Given the description of an element on the screen output the (x, y) to click on. 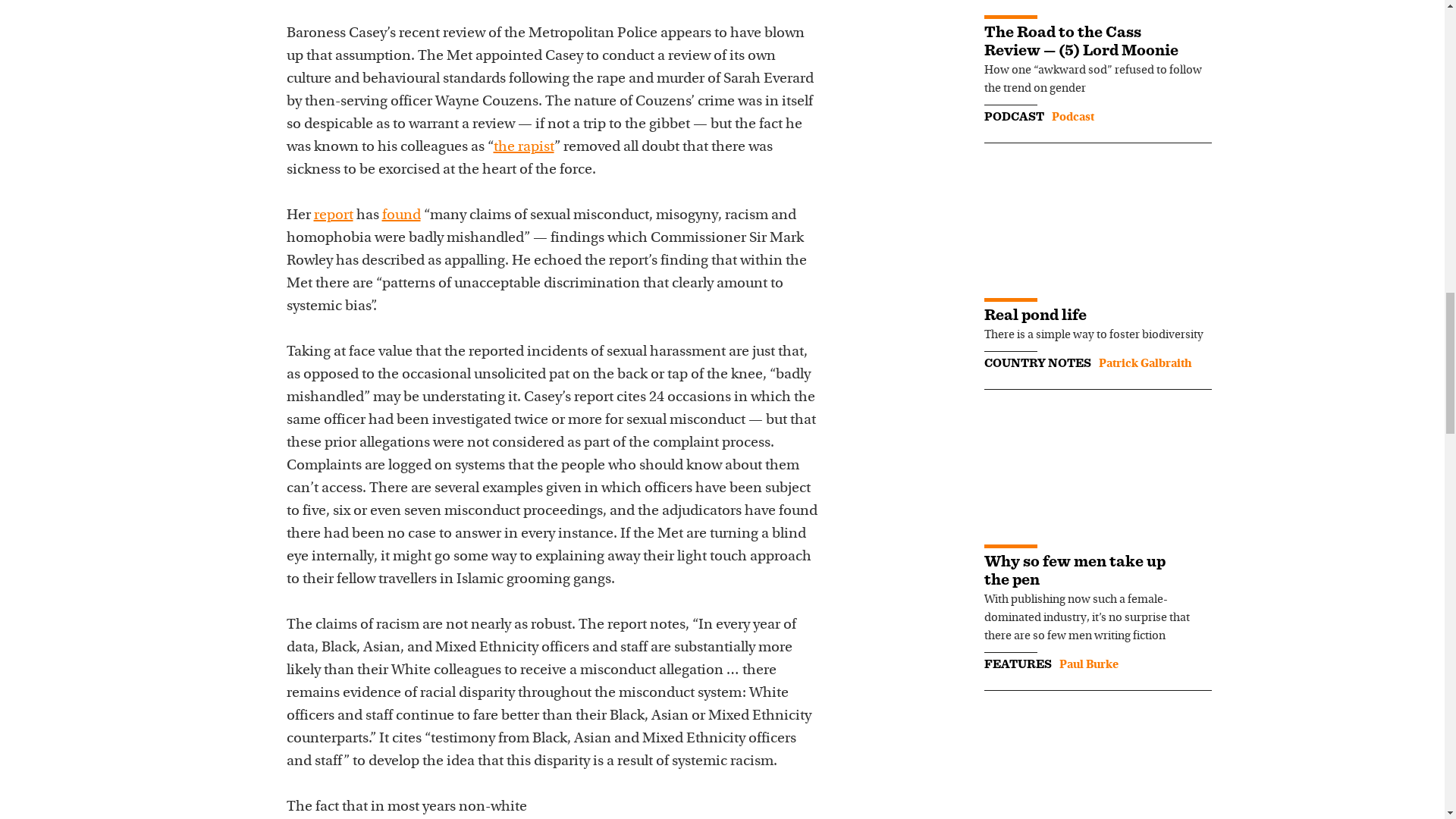
Posts by Paul Burke (1088, 664)
Posts by Patrick Galbraith (1144, 363)
report (333, 215)
found (400, 215)
Posts by Podcast (1072, 117)
the rapist (523, 146)
